Given the description of an element on the screen output the (x, y) to click on. 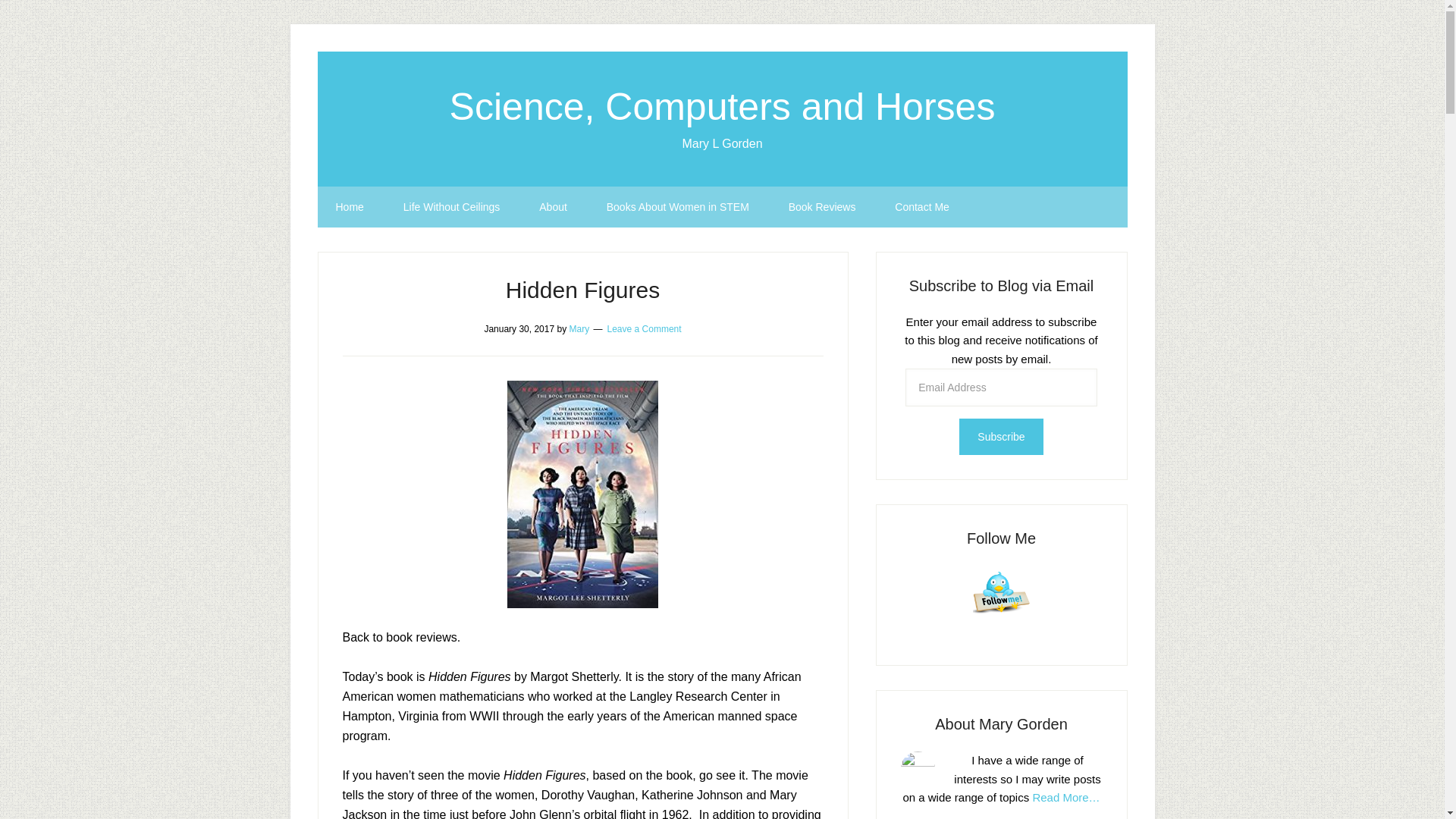
Home (349, 206)
Books About Women in STEM (677, 206)
Science, Computers and Horses (722, 106)
Contact Me (922, 206)
About (553, 206)
Leave a Comment (644, 328)
Hidden Figures (582, 289)
Mary (579, 328)
Subscribe (1000, 436)
Book Reviews (822, 206)
